Given the description of an element on the screen output the (x, y) to click on. 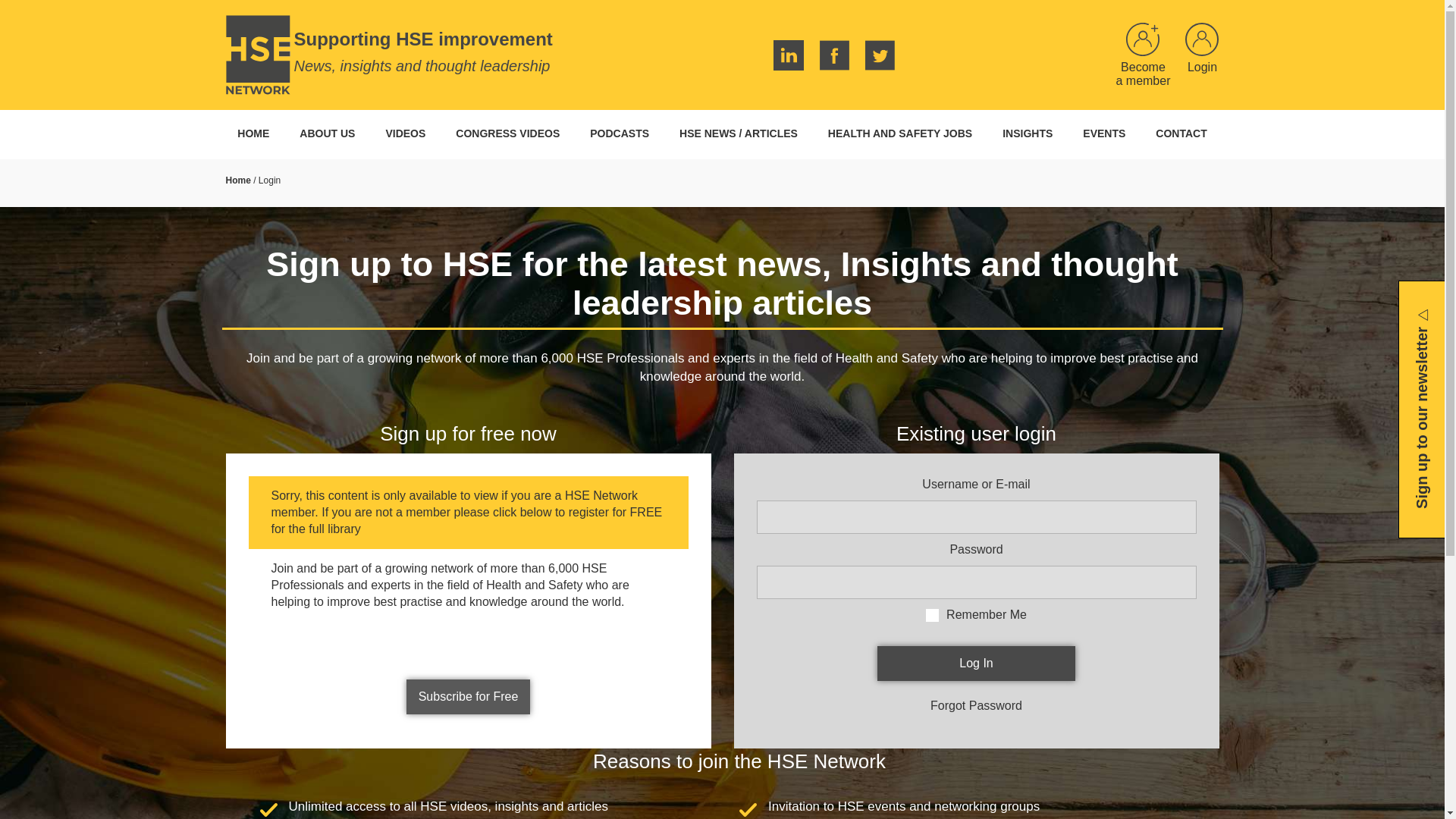
Log In (976, 663)
CONGRESS VIDEOS (508, 133)
CONTACT (1180, 133)
HEALTH AND SAFETY JOBS (899, 133)
ABOUT US (326, 133)
EVENTS (1103, 133)
Log In (976, 663)
PODCASTS (619, 133)
Forgot Password (976, 705)
VIDEOS (405, 133)
Home (237, 180)
HOME (252, 133)
INSIGHTS (1027, 133)
Subscribe for Free (468, 696)
